Given the description of an element on the screen output the (x, y) to click on. 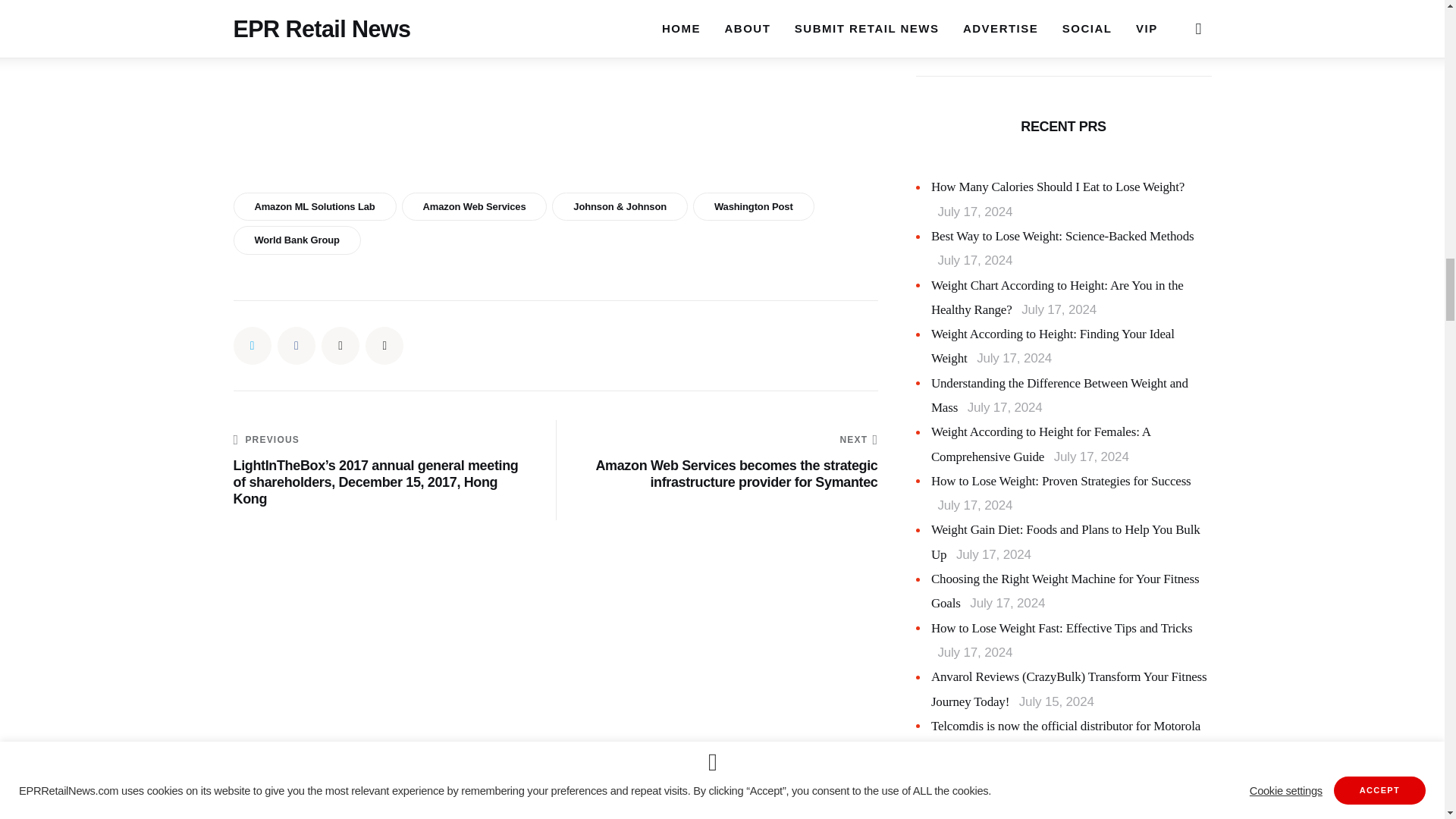
Copy URL to clipboard (384, 345)
